Given the description of an element on the screen output the (x, y) to click on. 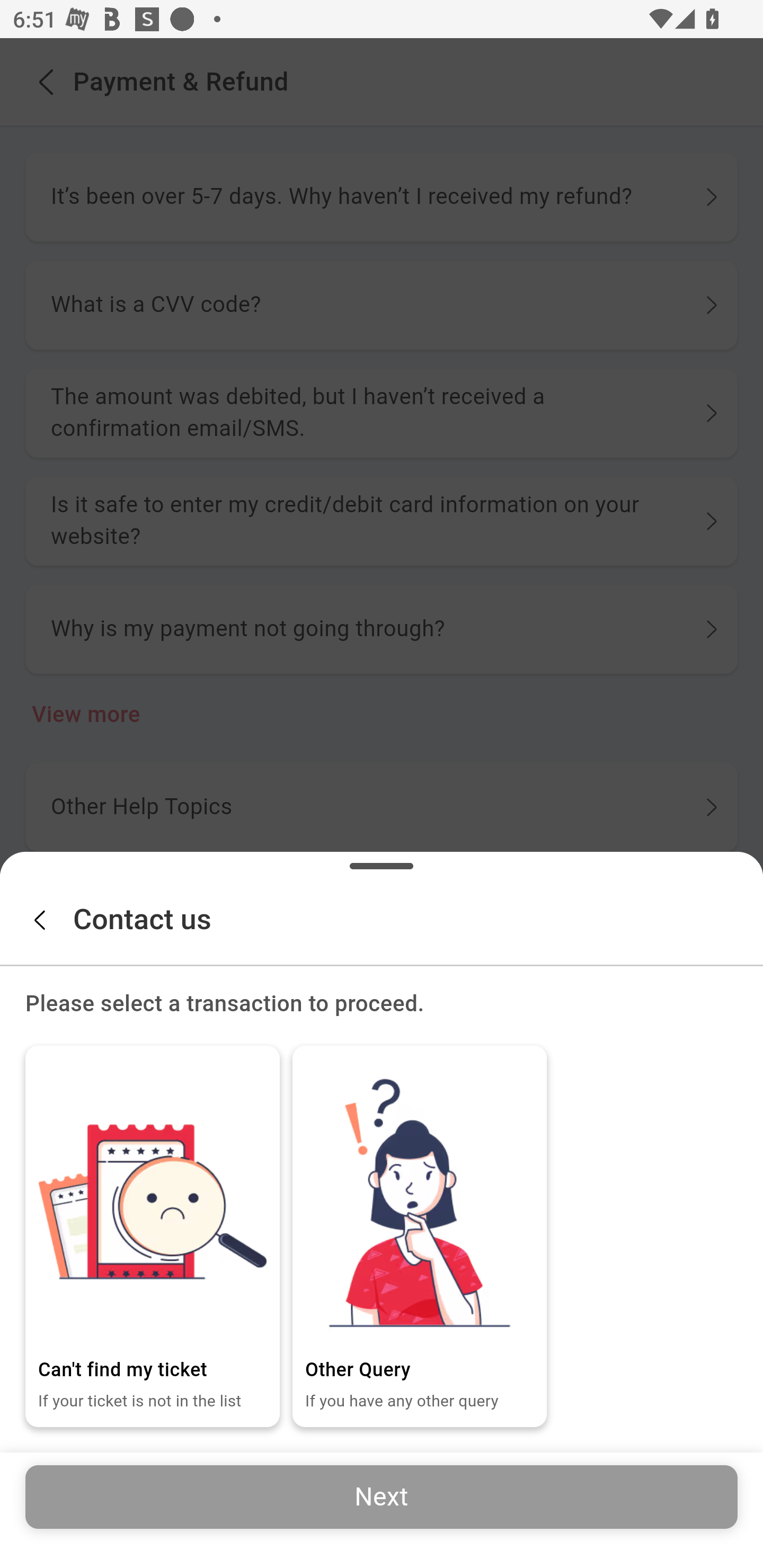
Can't find my ticket (152, 1200)
Other Query (419, 1200)
Next (381, 1496)
